Given the description of an element on the screen output the (x, y) to click on. 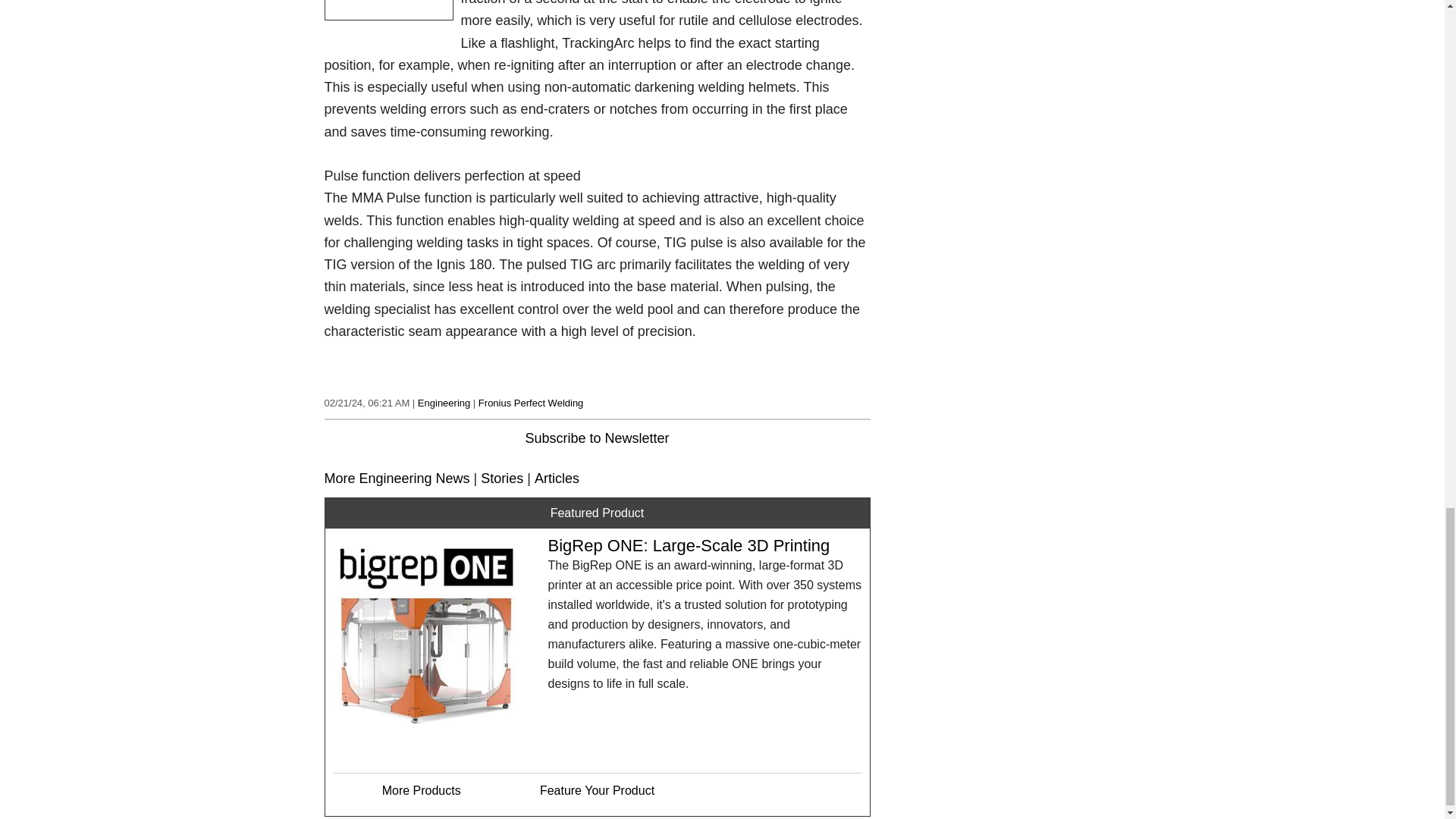
More Engineering News (397, 478)
Subscribe to Newsletter (596, 437)
Stories (501, 478)
Fronius Perfect Welding (531, 402)
Articles (556, 478)
Engineering (443, 402)
